Given the description of an element on the screen output the (x, y) to click on. 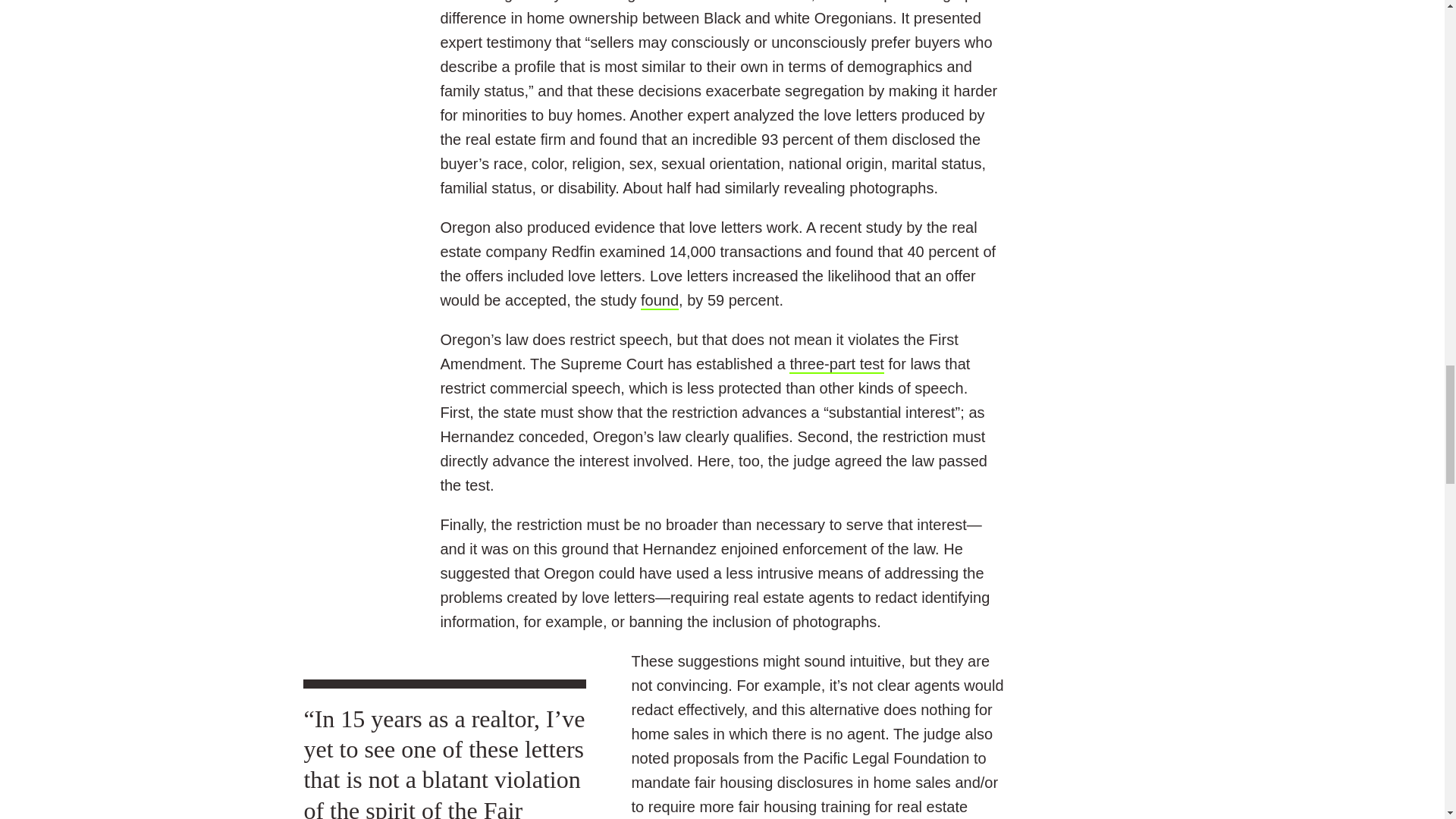
three-part test (836, 364)
found (659, 300)
